Given the description of an element on the screen output the (x, y) to click on. 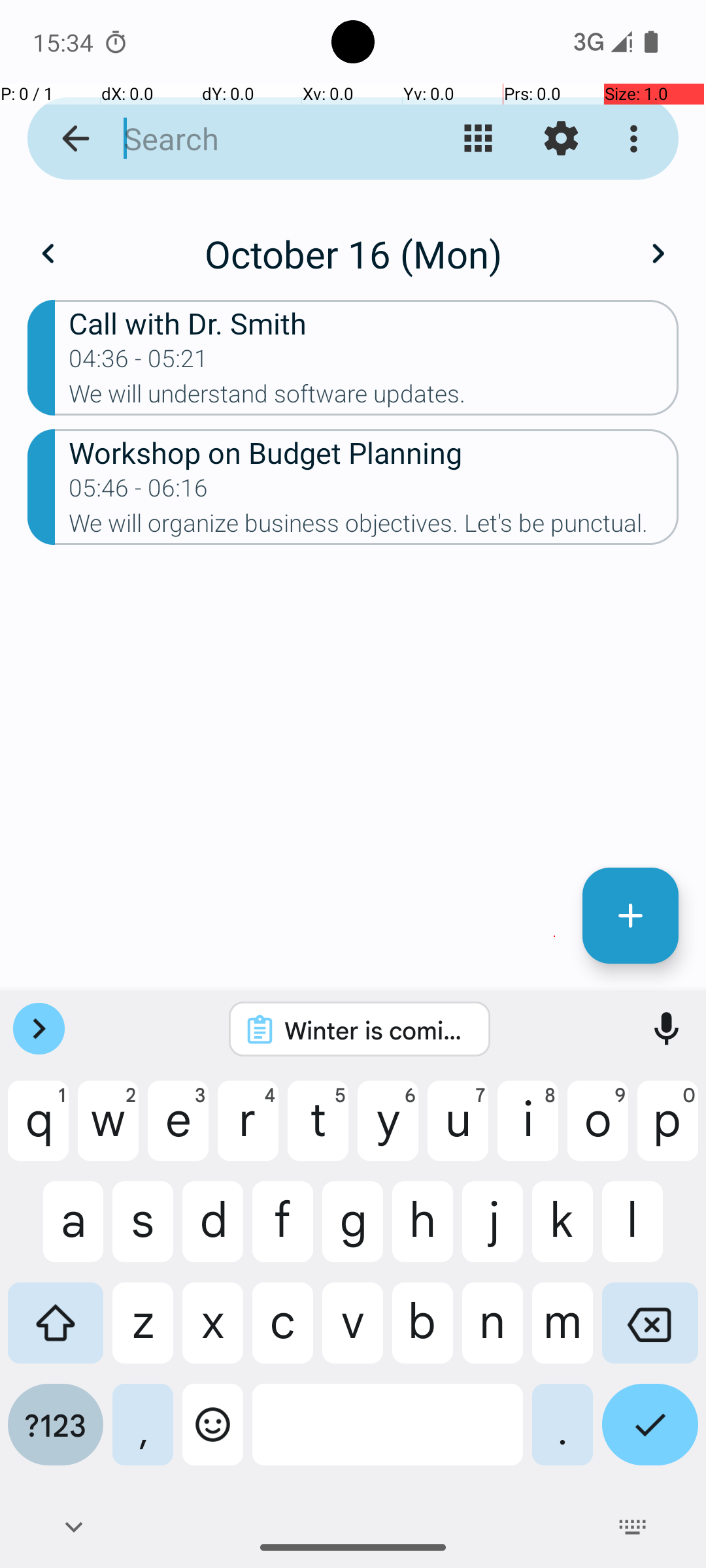
04:36 - 05:21 Element type: android.widget.TextView (137, 362)
We will understand software updates. Element type: android.widget.TextView (373, 397)
05:46 - 06:16 Element type: android.widget.TextView (137, 491)
We will organize business objectives. Let's be punctual. Element type: android.widget.TextView (373, 526)
Winter is coming. Element type: android.widget.TextView (376, 1029)
